Given the description of an element on the screen output the (x, y) to click on. 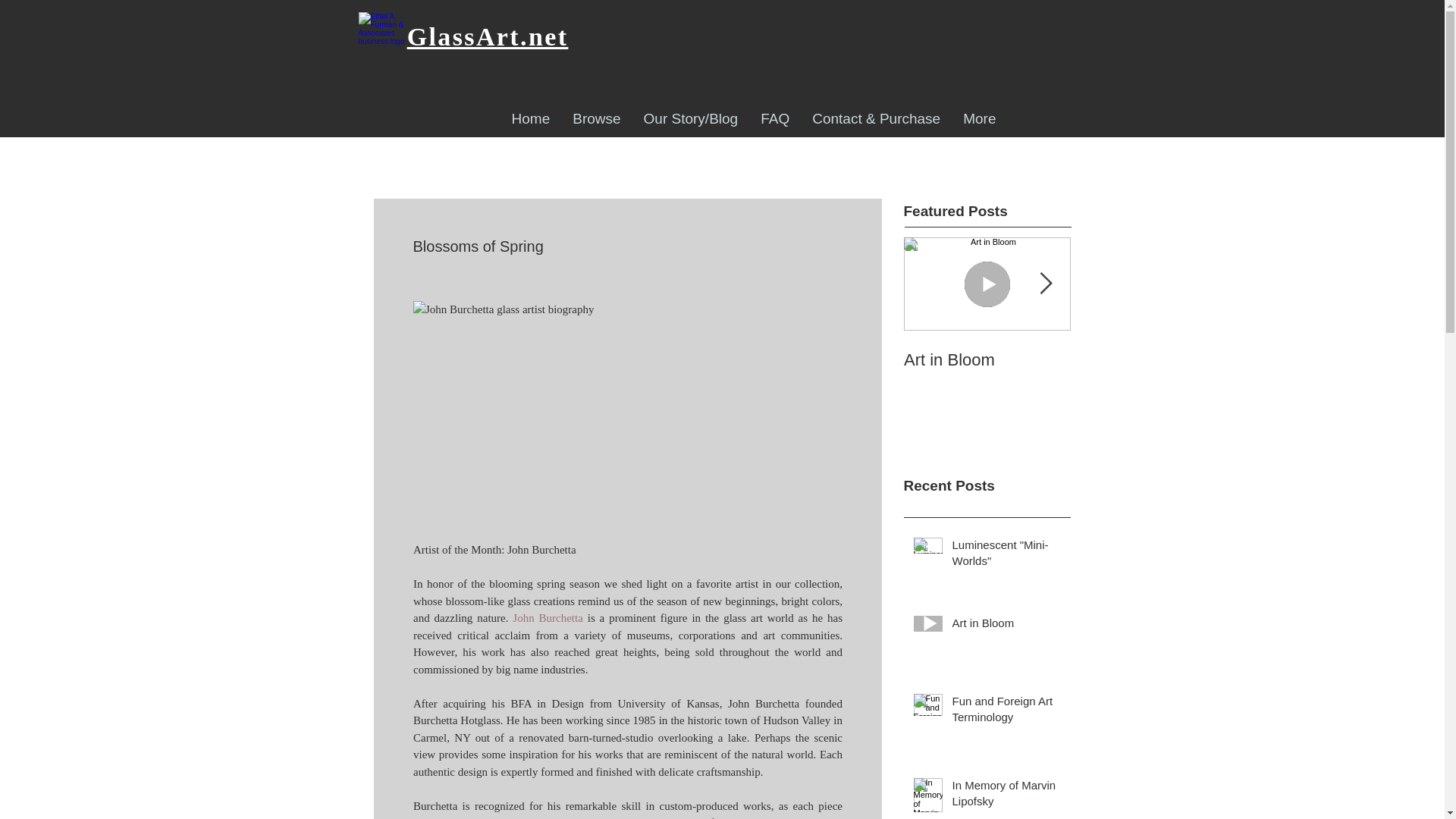
Home (987, 344)
In Memory of Marvin Lipofsky (531, 120)
FAQ (1006, 795)
Art in Bloom (774, 120)
GlassArt.net (1006, 626)
Luminescent "Mini-Worlds" (488, 36)
Fun and Foreign Art Terminology (1006, 555)
Fun and Foreign Art Terminology (1006, 711)
Art in Bloom (987, 344)
John Burchetta (1153, 369)
Browse (987, 360)
